Given the description of an element on the screen output the (x, y) to click on. 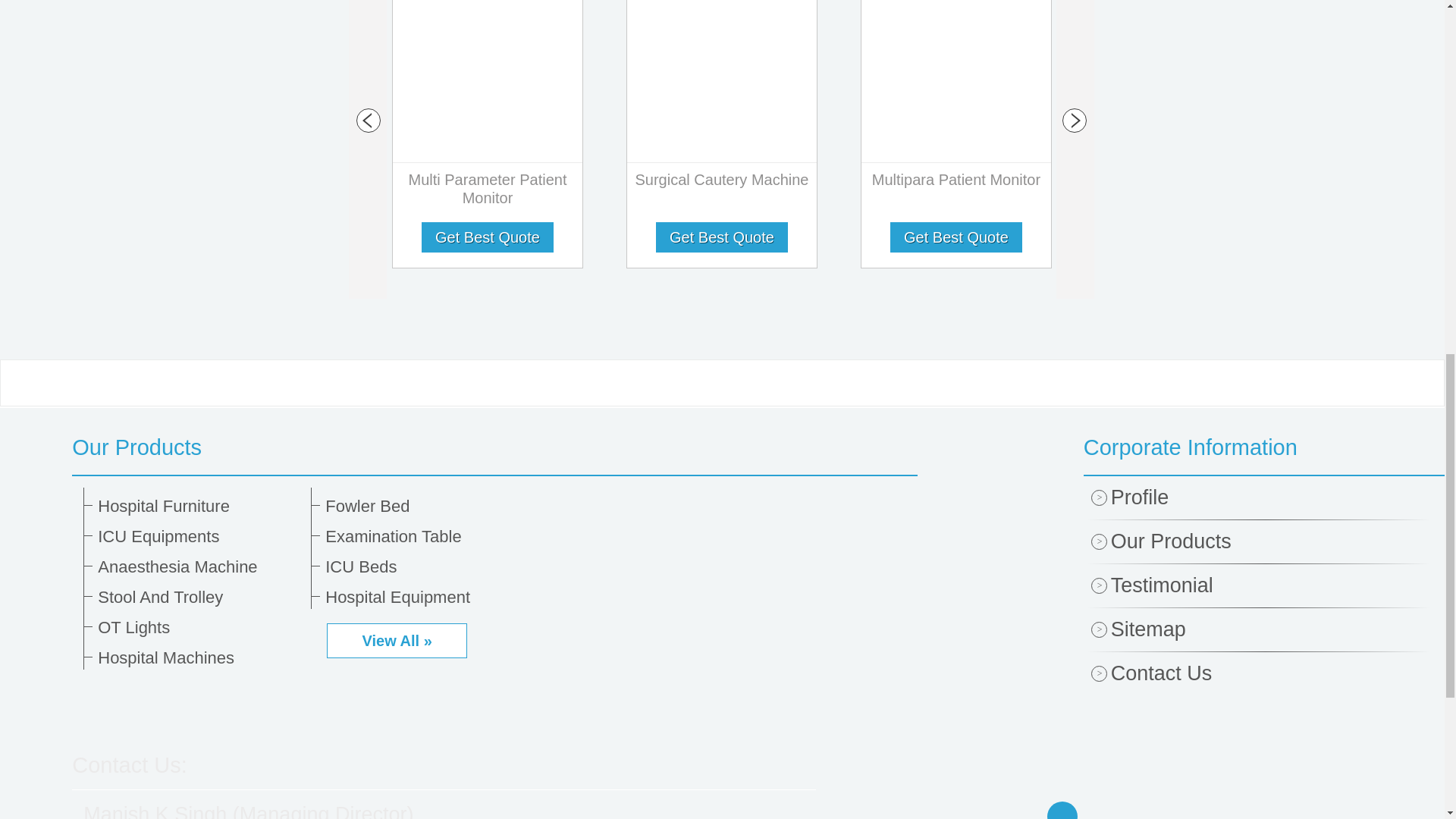
Stool And Trolley (198, 597)
Surgical Cautery Machine (721, 182)
Examination Table (426, 536)
ICU Equipments (198, 536)
Multipara Patient Monitor (956, 182)
Fowler Bed (426, 506)
Hospital Furniture (198, 506)
Our Products (494, 447)
Hospital Machines (198, 658)
Contact Us: (129, 764)
